Given the description of an element on the screen output the (x, y) to click on. 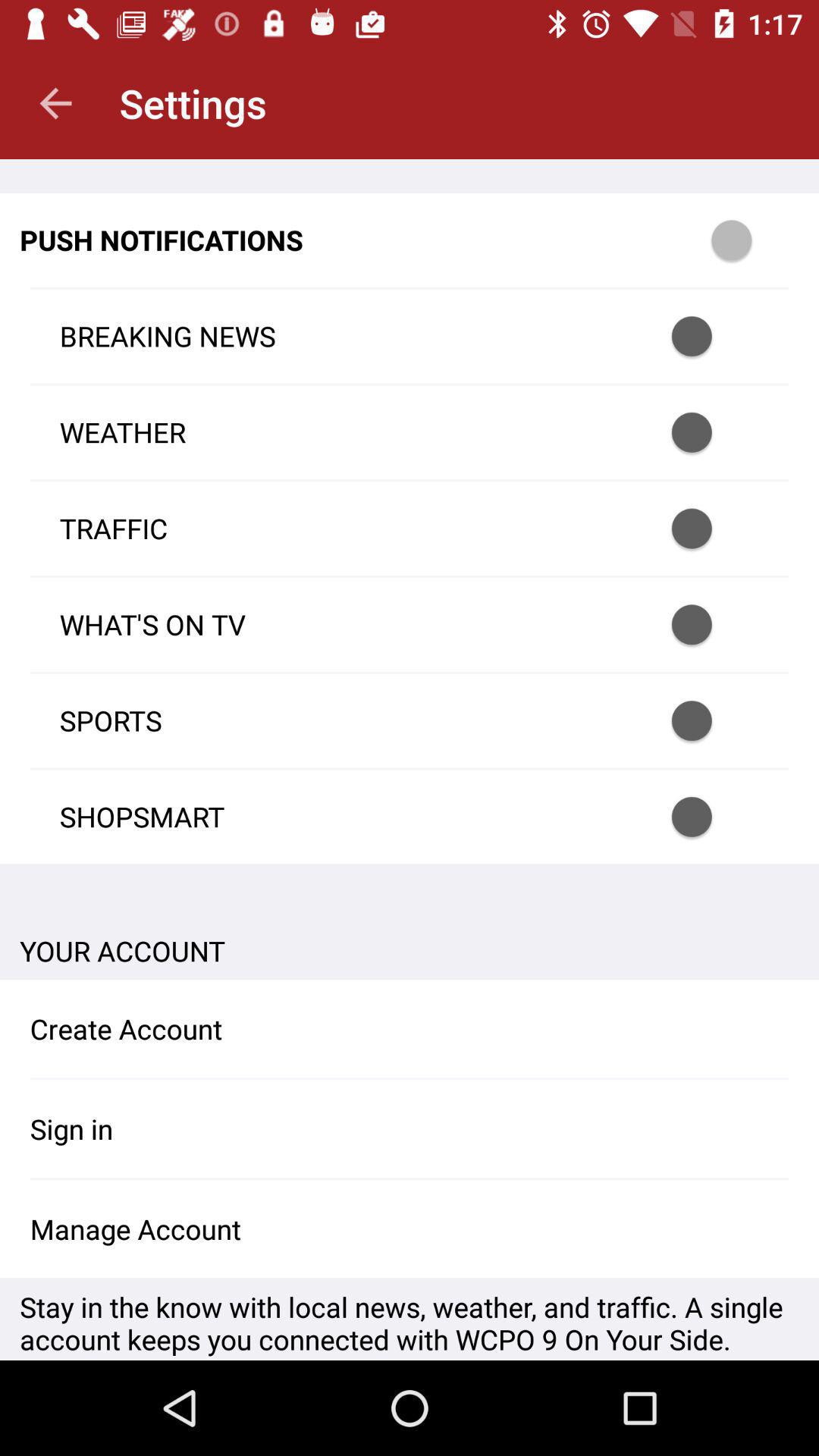
add push notification (751, 240)
